Given the description of an element on the screen output the (x, y) to click on. 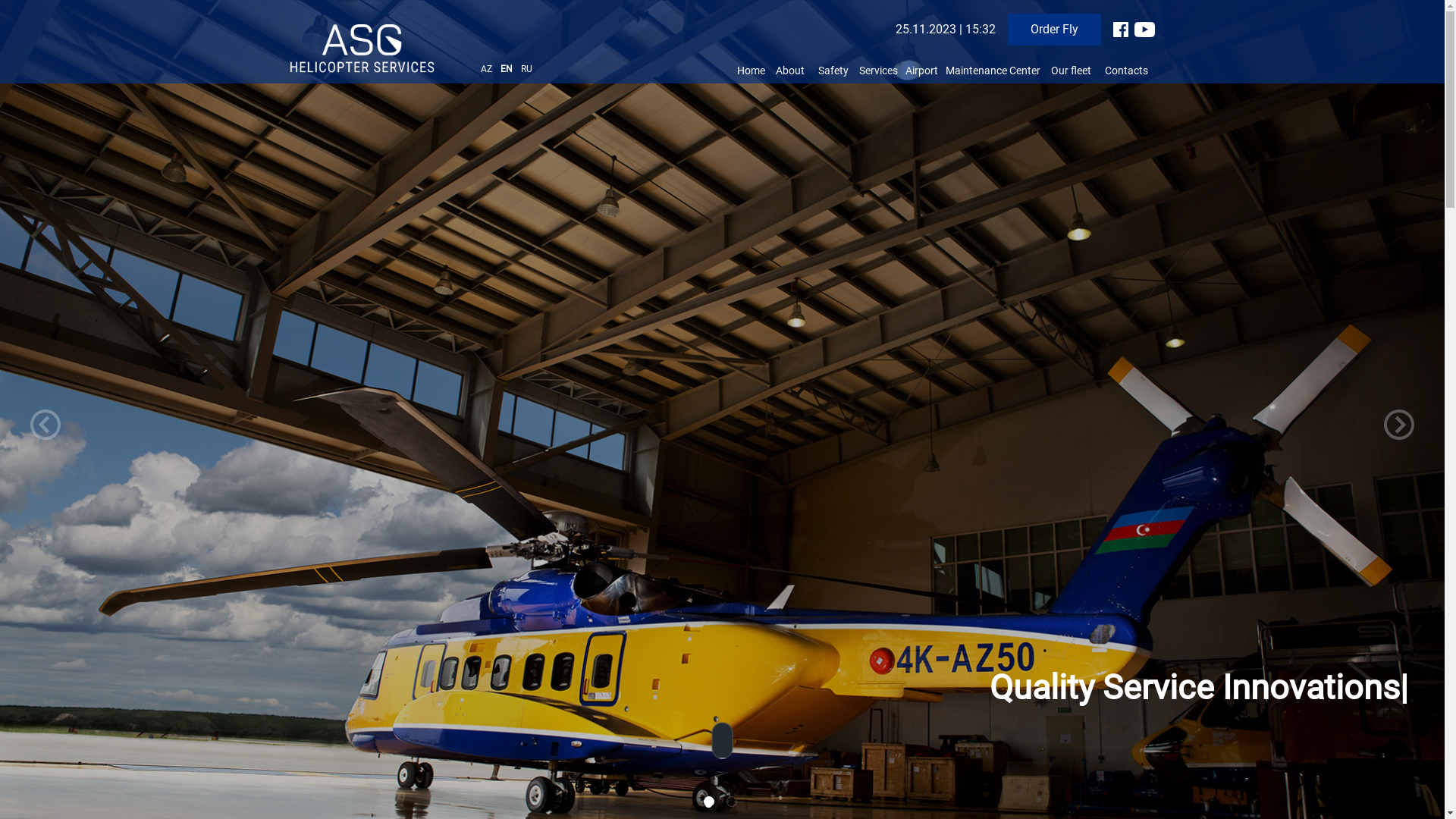
Order Fly Element type: text (1053, 29)
RU Element type: text (525, 68)
Maintenance Center Element type: text (991, 70)
Airport Element type: text (921, 70)
About Element type: text (789, 70)
EN Element type: text (507, 68)
Safety Element type: text (832, 70)
2 Element type: text (733, 803)
Contacts Element type: text (1125, 70)
Services Element type: text (877, 70)
1 Element type: text (710, 803)
Home Element type: text (751, 70)
Our fleet Element type: text (1071, 70)
AZ Element type: text (487, 68)
